Given the description of an element on the screen output the (x, y) to click on. 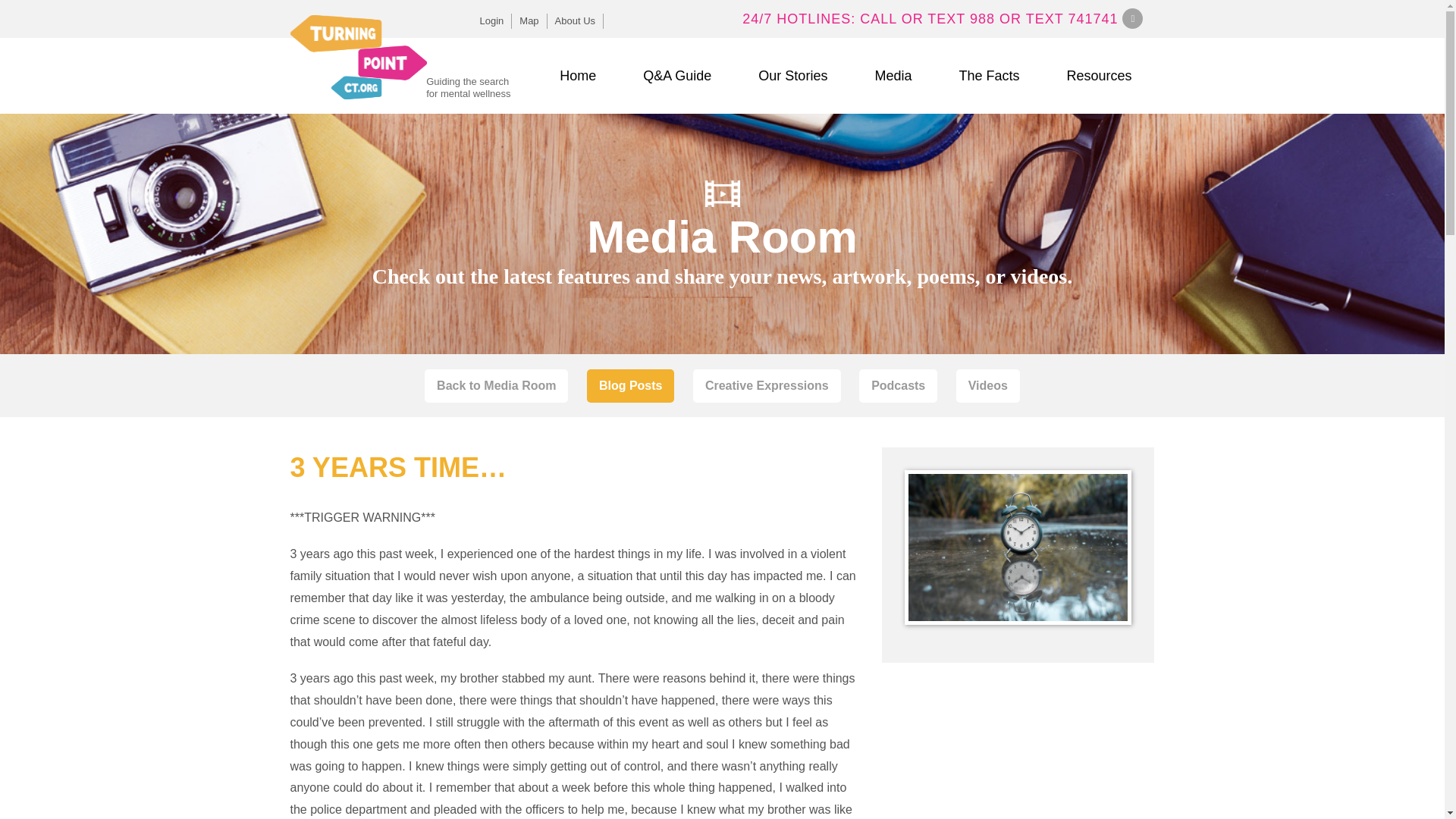
Media (892, 75)
The Facts (989, 75)
Login (491, 20)
Podcasts (898, 386)
Back to Media Room (496, 386)
Home (577, 75)
Creative Expressions (767, 386)
About Us (574, 20)
Our Stories (792, 75)
Map (528, 20)
Blog Posts (630, 386)
Videos (988, 386)
Resources (1098, 75)
